Given the description of an element on the screen output the (x, y) to click on. 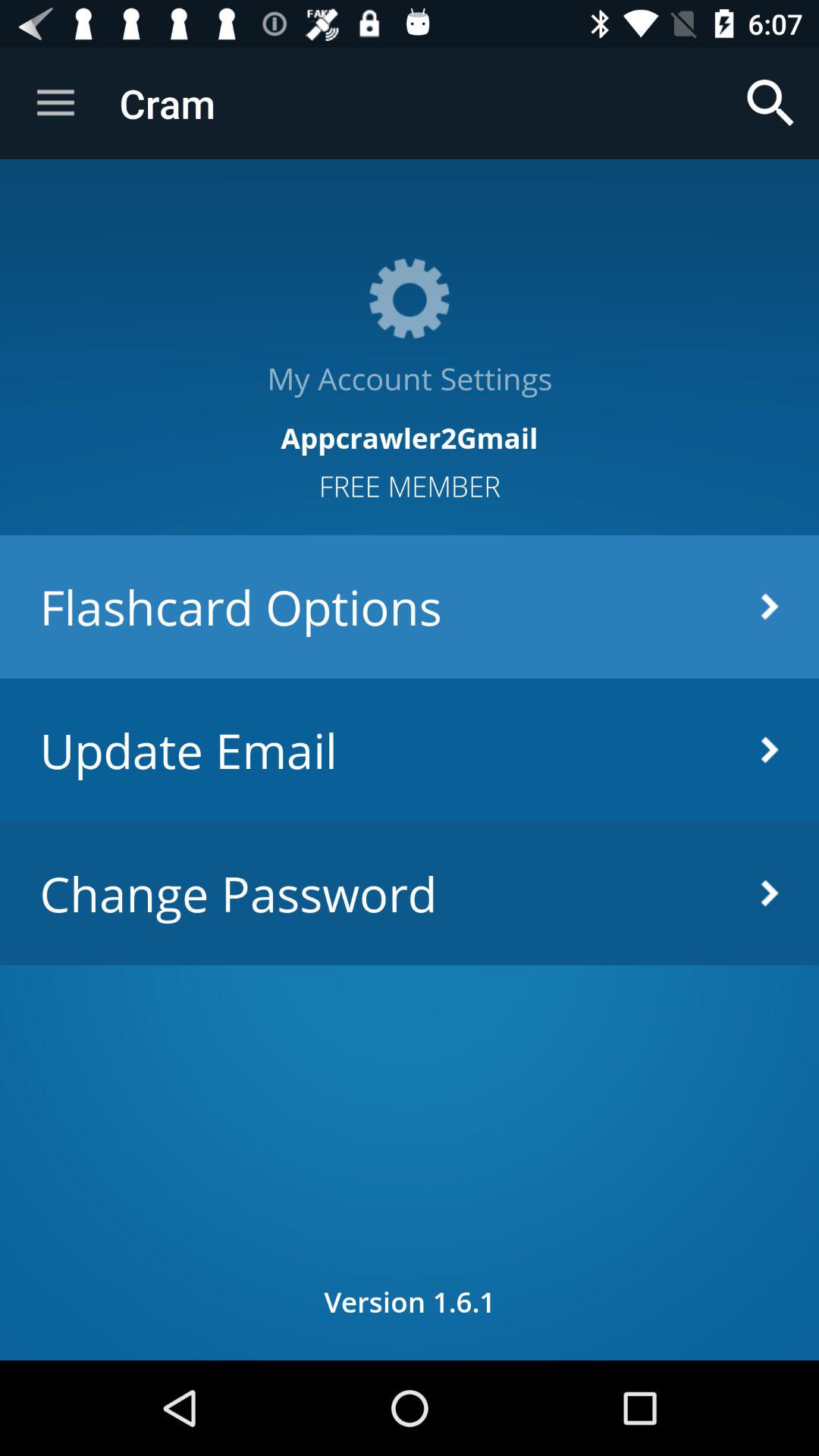
choose the item below the flashcard options icon (409, 749)
